Given the description of an element on the screen output the (x, y) to click on. 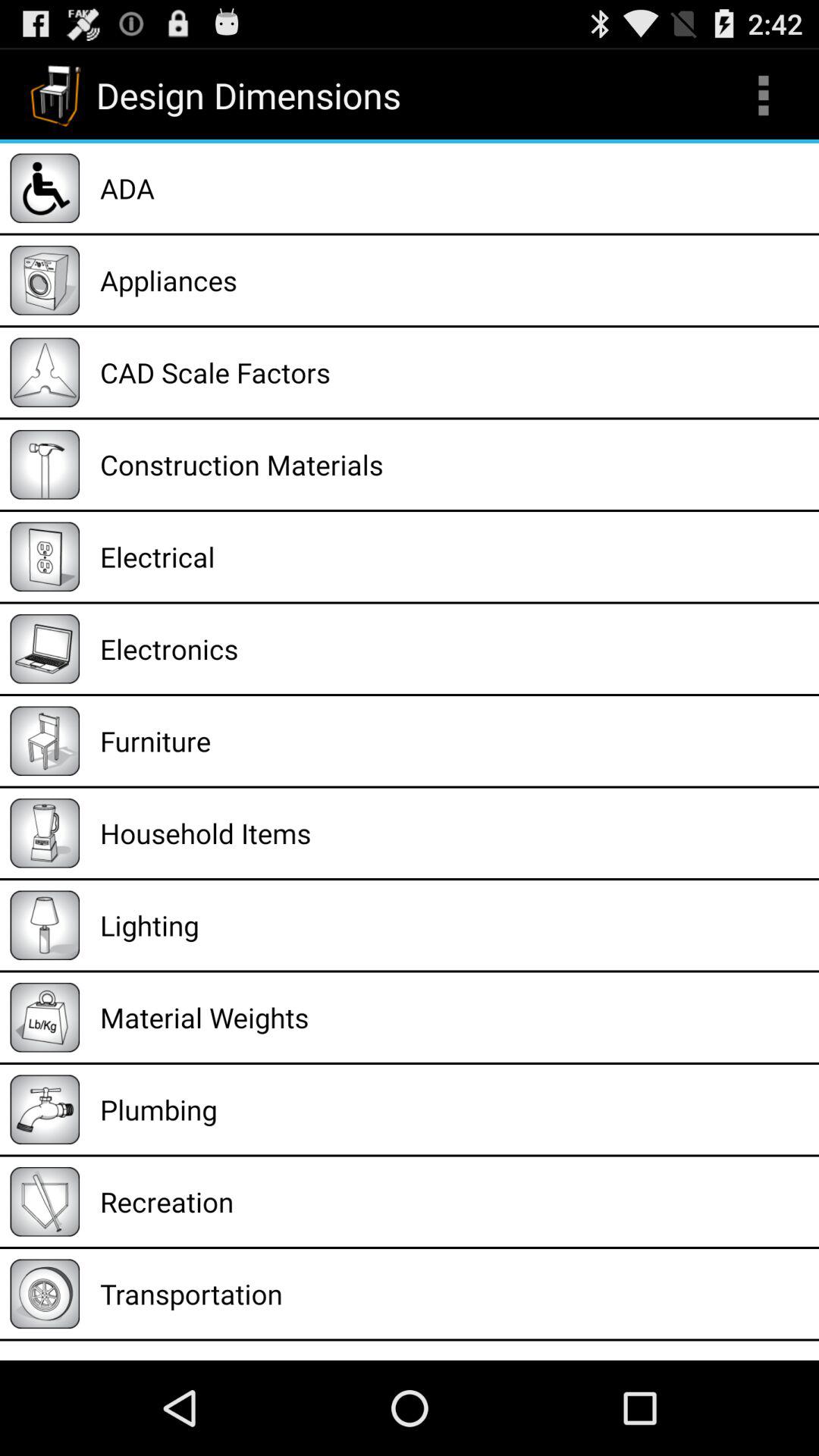
jump to electrical app (454, 556)
